Given the description of an element on the screen output the (x, y) to click on. 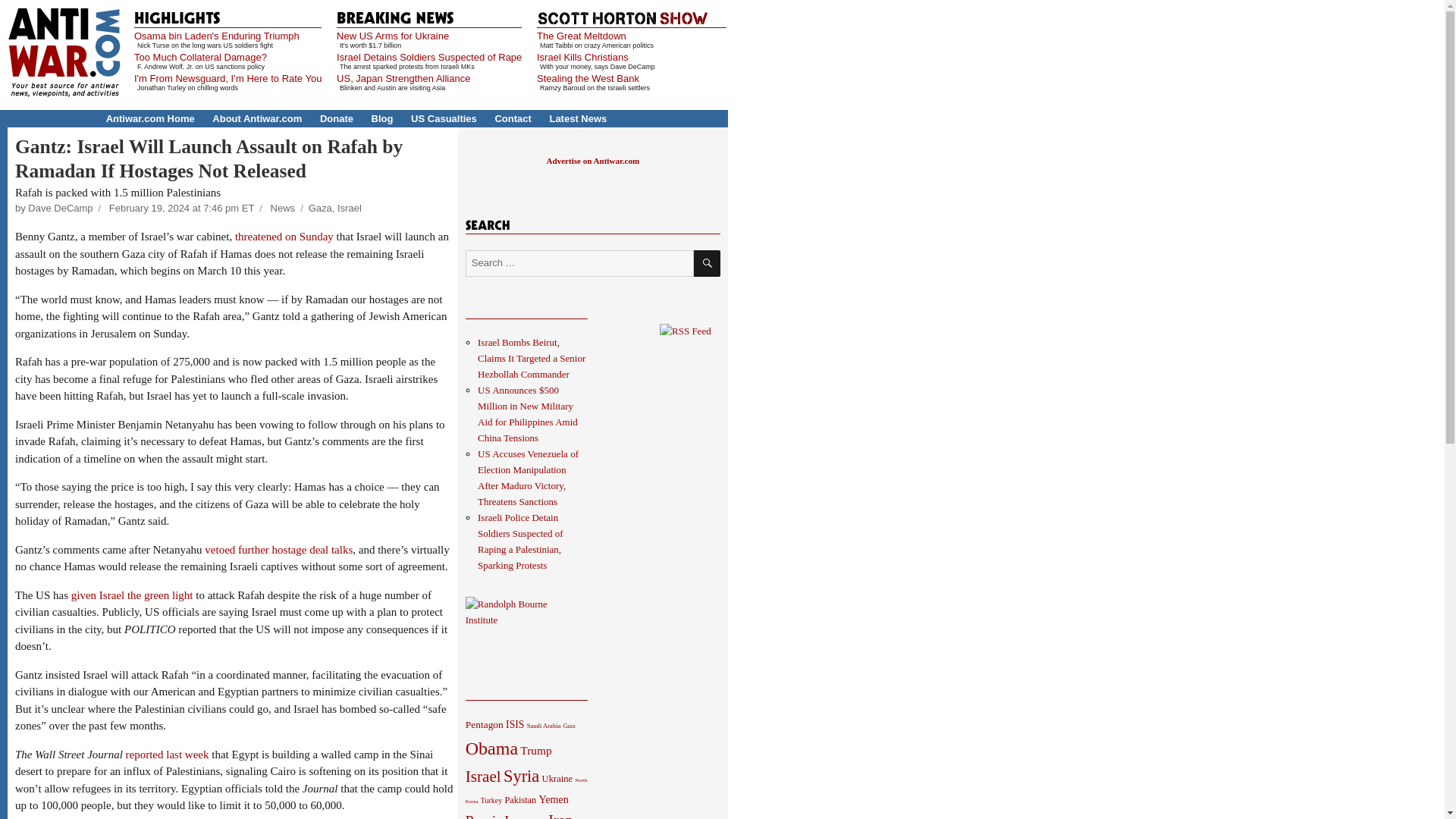
vetoed further hostage deal talks (277, 549)
Donate (336, 118)
Israel Detains Soldiers Suspected of Rape (428, 57)
Israel Kills Christians (582, 57)
threatened on Sunday (285, 236)
About Antiwar.com (256, 118)
Contact (513, 118)
Too Much Collateral Damage? (199, 57)
Osama bin Laden's Enduring Triumph (216, 35)
given Israel the green light (132, 594)
Latest News (577, 118)
US Casualties (443, 118)
reported last week (168, 754)
New US Arms for Ukraine (392, 35)
The Great Meltdown (581, 35)
